Given the description of an element on the screen output the (x, y) to click on. 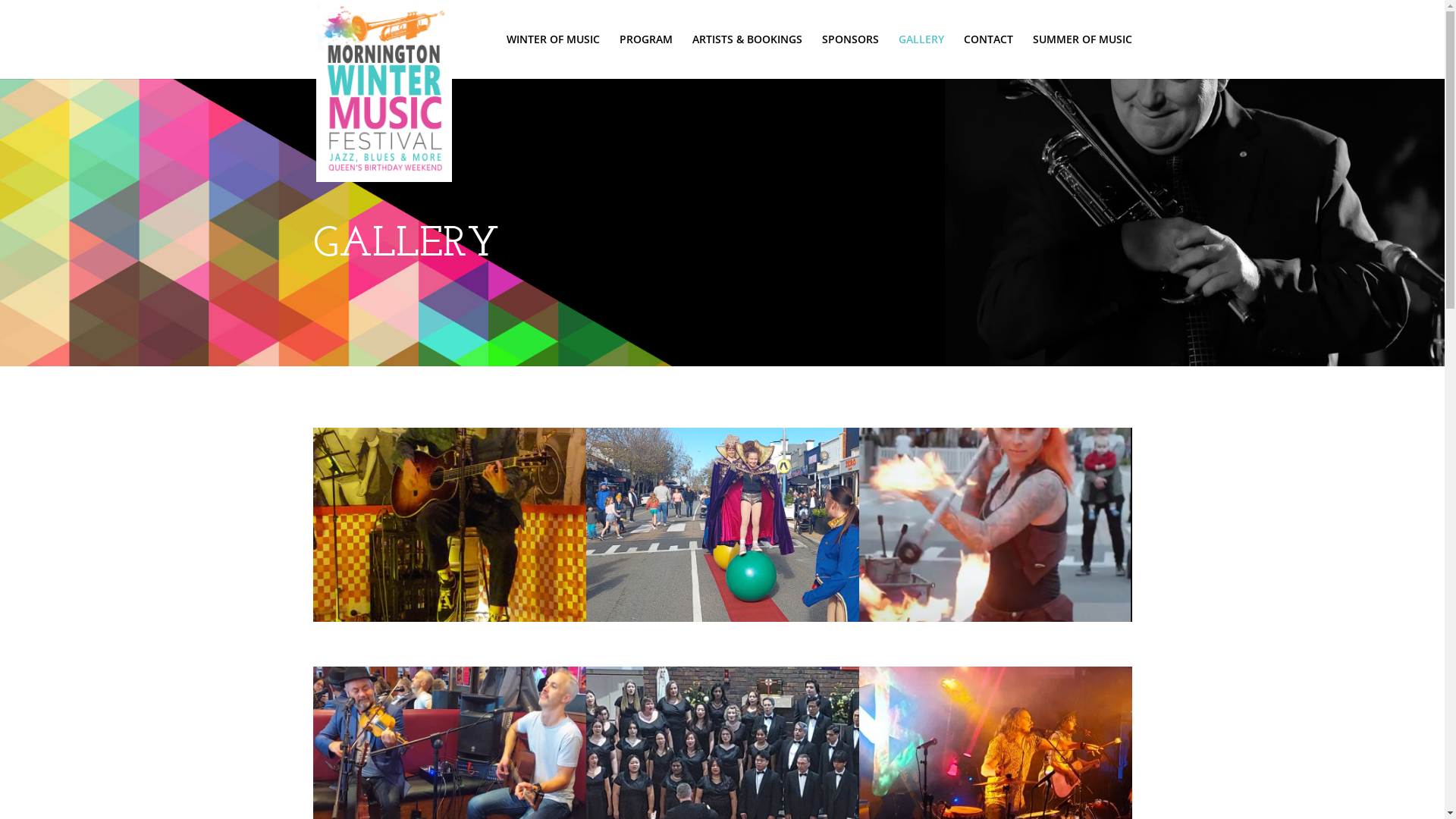
ARTISTS & BOOKINGS Element type: text (746, 56)
Screenshot (442) Element type: hover (448, 617)
PROGRAM Element type: text (644, 56)
SPONSORS Element type: text (850, 56)
Screenshot (441) Element type: hover (994, 617)
GALLERY Element type: text (920, 56)
CONTACT Element type: text (987, 56)
Screenshot (462) Element type: hover (721, 617)
WINTER OF MUSIC Element type: text (552, 56)
SUMMER OF MUSIC Element type: text (1082, 56)
